Given the description of an element on the screen output the (x, y) to click on. 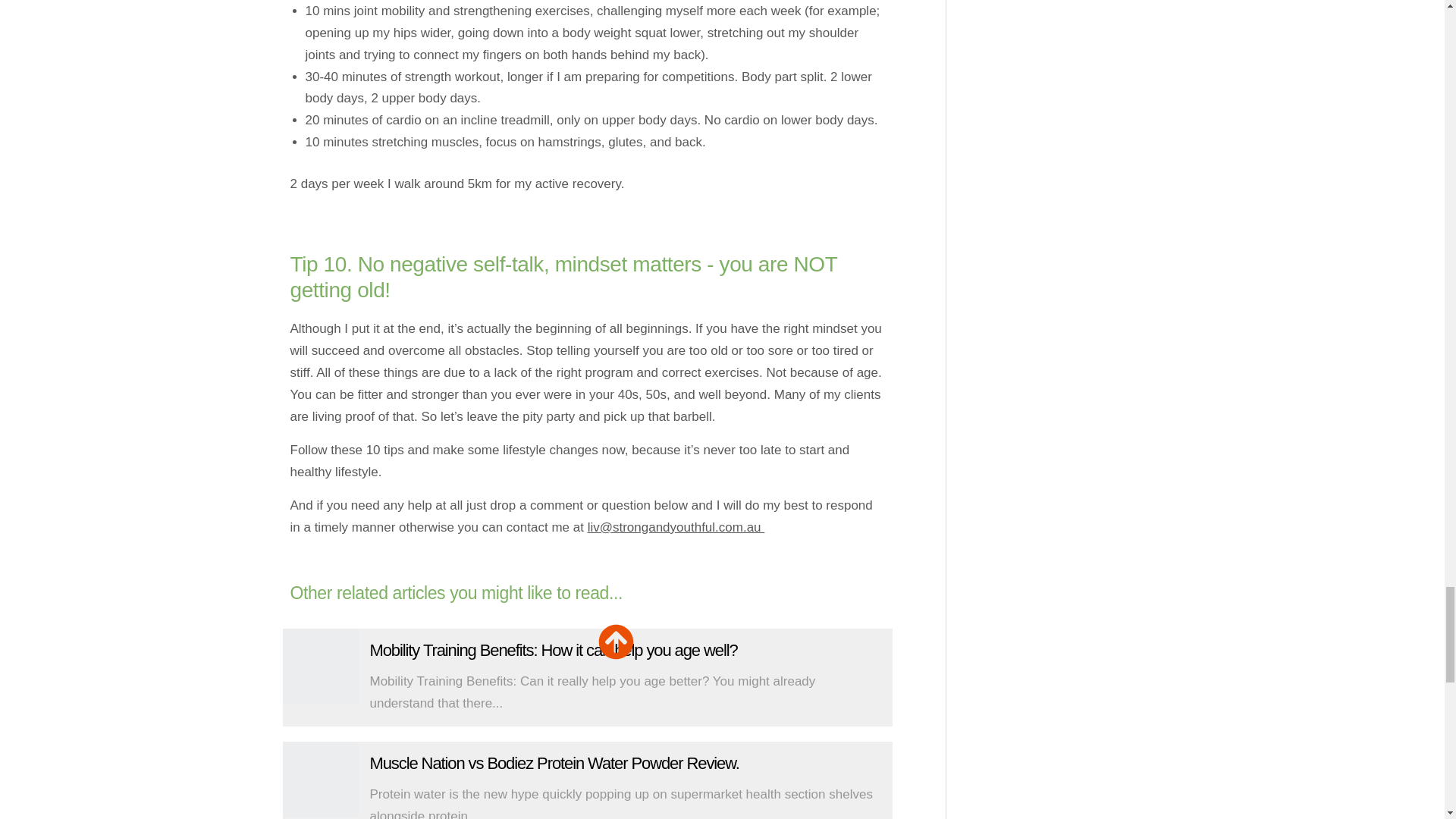
Mobility Training Benefits: How it can help you age well? (320, 666)
Muscle Nation vs Bodiez Protein Water Powder Review. (554, 763)
Mobility Training Benefits: How it can help you age well? (553, 650)
Muscle Nation vs Bodiez Protein Water Powder Review. (320, 779)
